Given the description of an element on the screen output the (x, y) to click on. 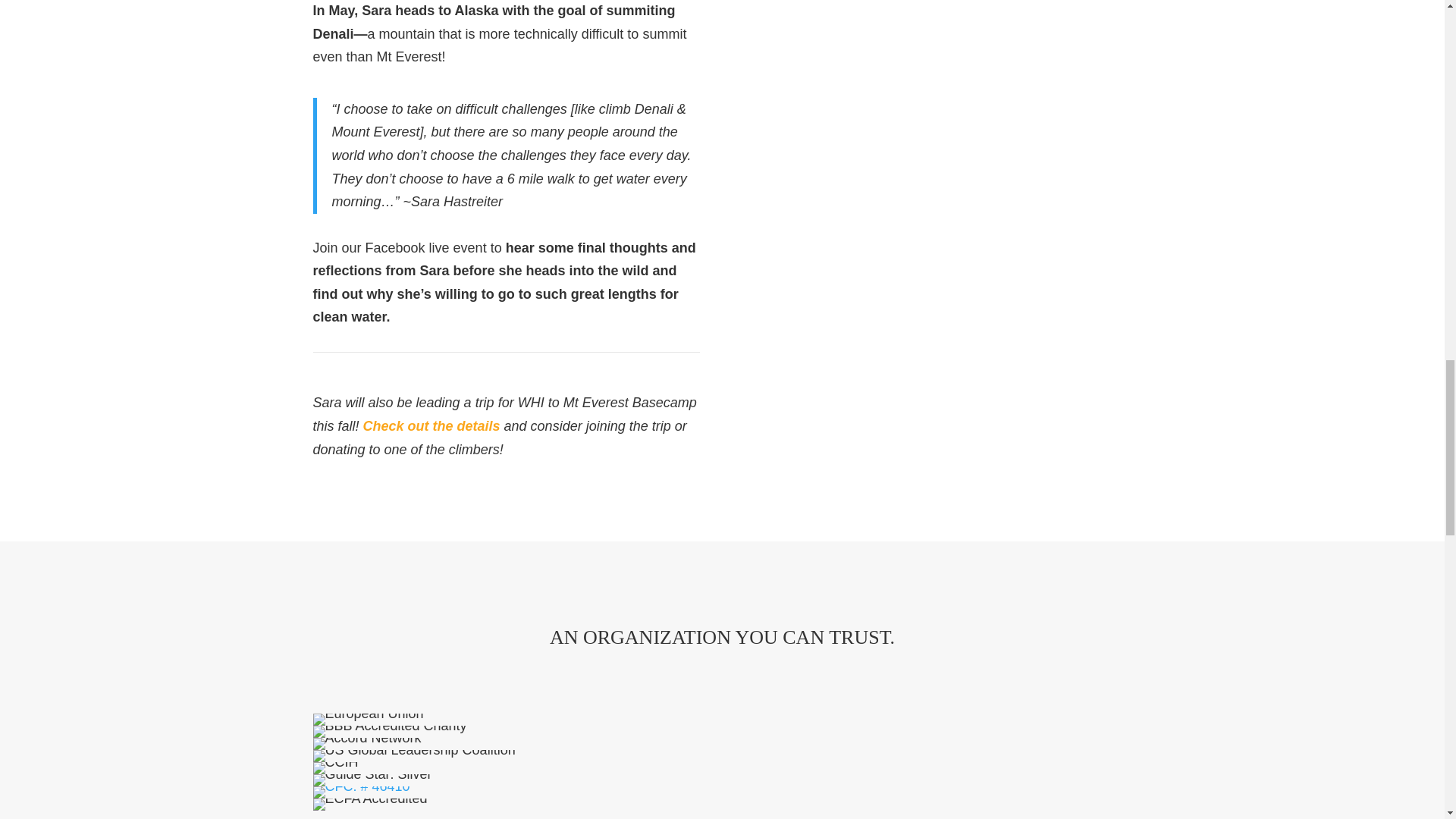
Four-Star-Rating-Badge-Full-Color (368, 719)
usglc (414, 756)
accord-network (366, 743)
